Given the description of an element on the screen output the (x, y) to click on. 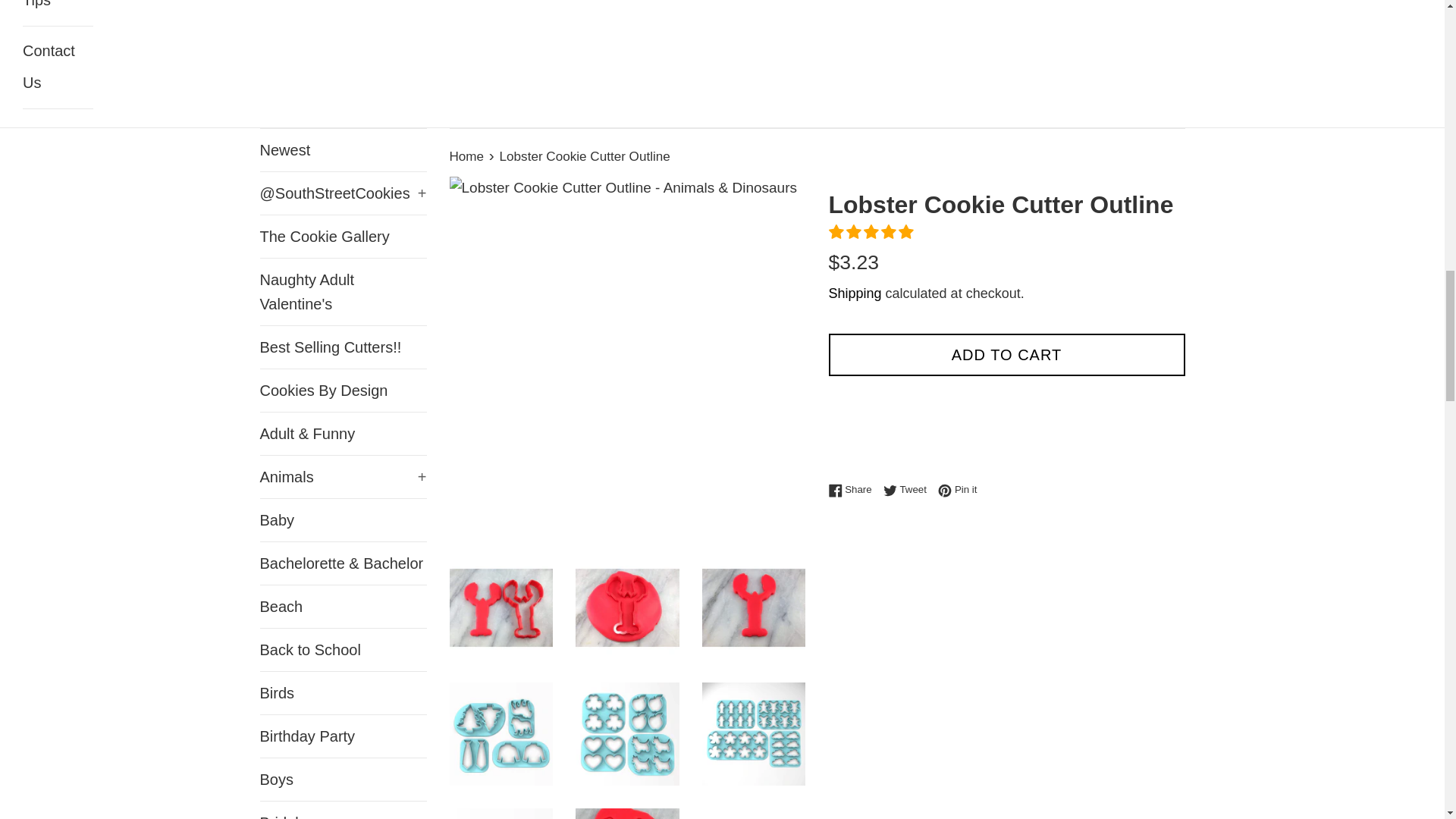
Naughty Adult Valentine's (342, 291)
Tips (58, 12)
Cookies By Design (342, 390)
Back to the frontpage (467, 156)
Newest (342, 149)
The Cookie Gallery (342, 236)
Best Selling Cutters!! (342, 346)
Share on Facebook (853, 489)
Tweet on Twitter (908, 489)
Pin on Pinterest (956, 489)
